Given the description of an element on the screen output the (x, y) to click on. 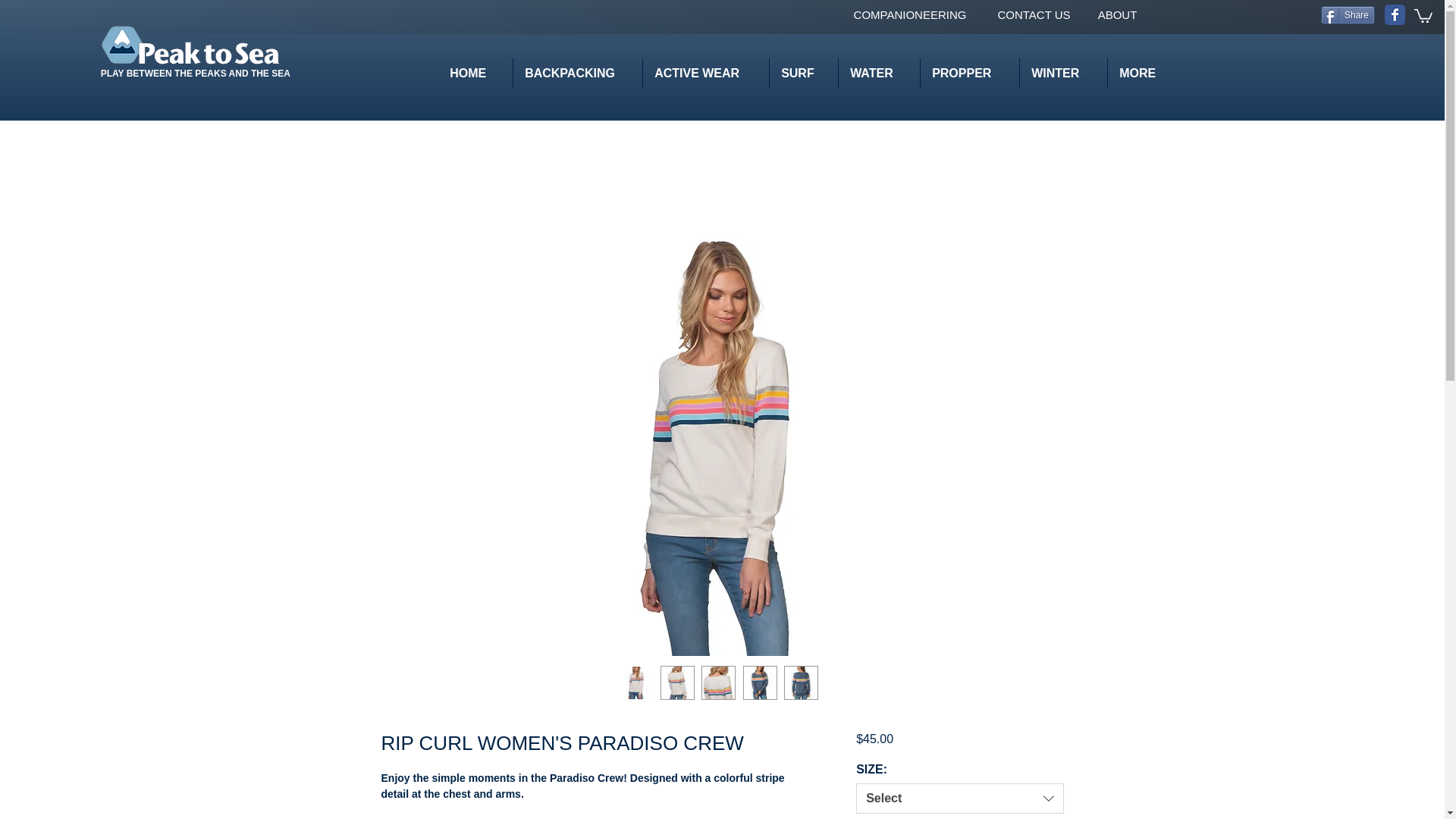
BACKPACKING (577, 73)
COMPANIONEERING (909, 14)
HOME (475, 73)
Share (1347, 14)
ACTIVE WEAR (705, 73)
Share (1347, 14)
ABOUT (1117, 14)
CONTACT US (1033, 14)
